Given the description of an element on the screen output the (x, y) to click on. 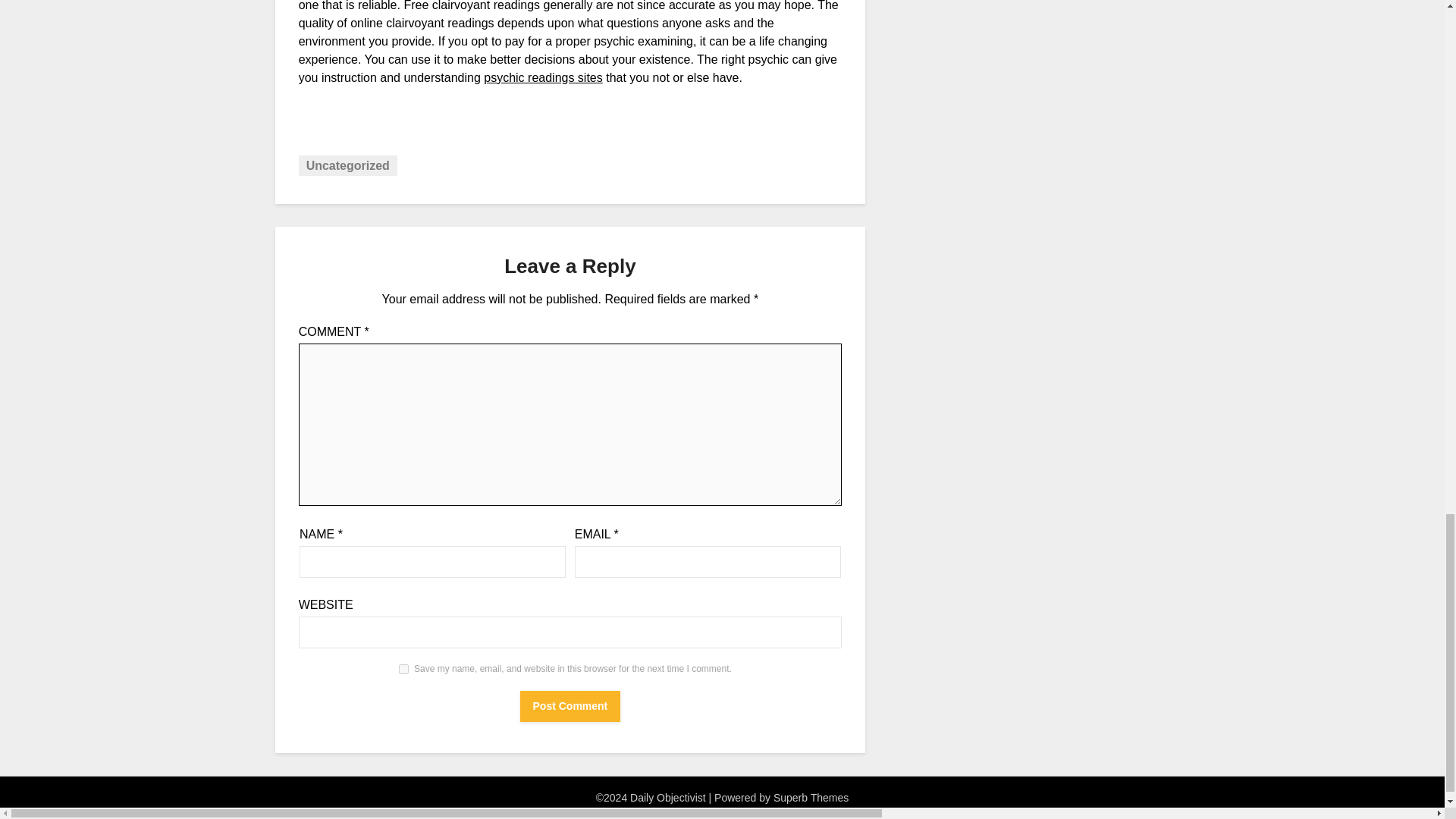
yes (403, 669)
Superb Themes (810, 797)
Post Comment (570, 706)
Uncategorized (347, 165)
Post Comment (570, 706)
psychic readings sites (542, 77)
